Given the description of an element on the screen output the (x, y) to click on. 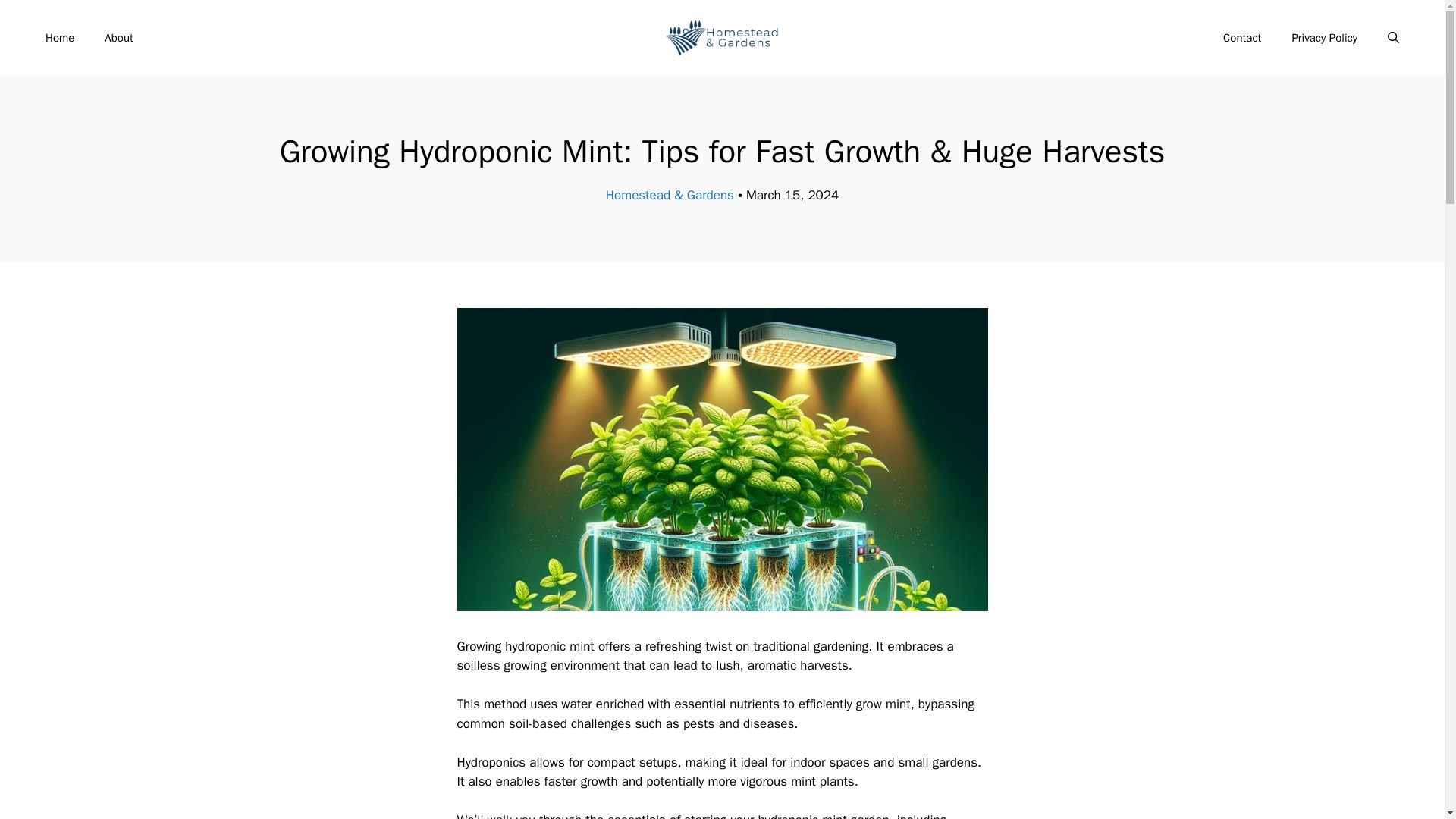
Menu Item Separator (678, 37)
Contact (1242, 37)
Home (59, 37)
Privacy Policy (1324, 37)
About (118, 37)
